Given the description of an element on the screen output the (x, y) to click on. 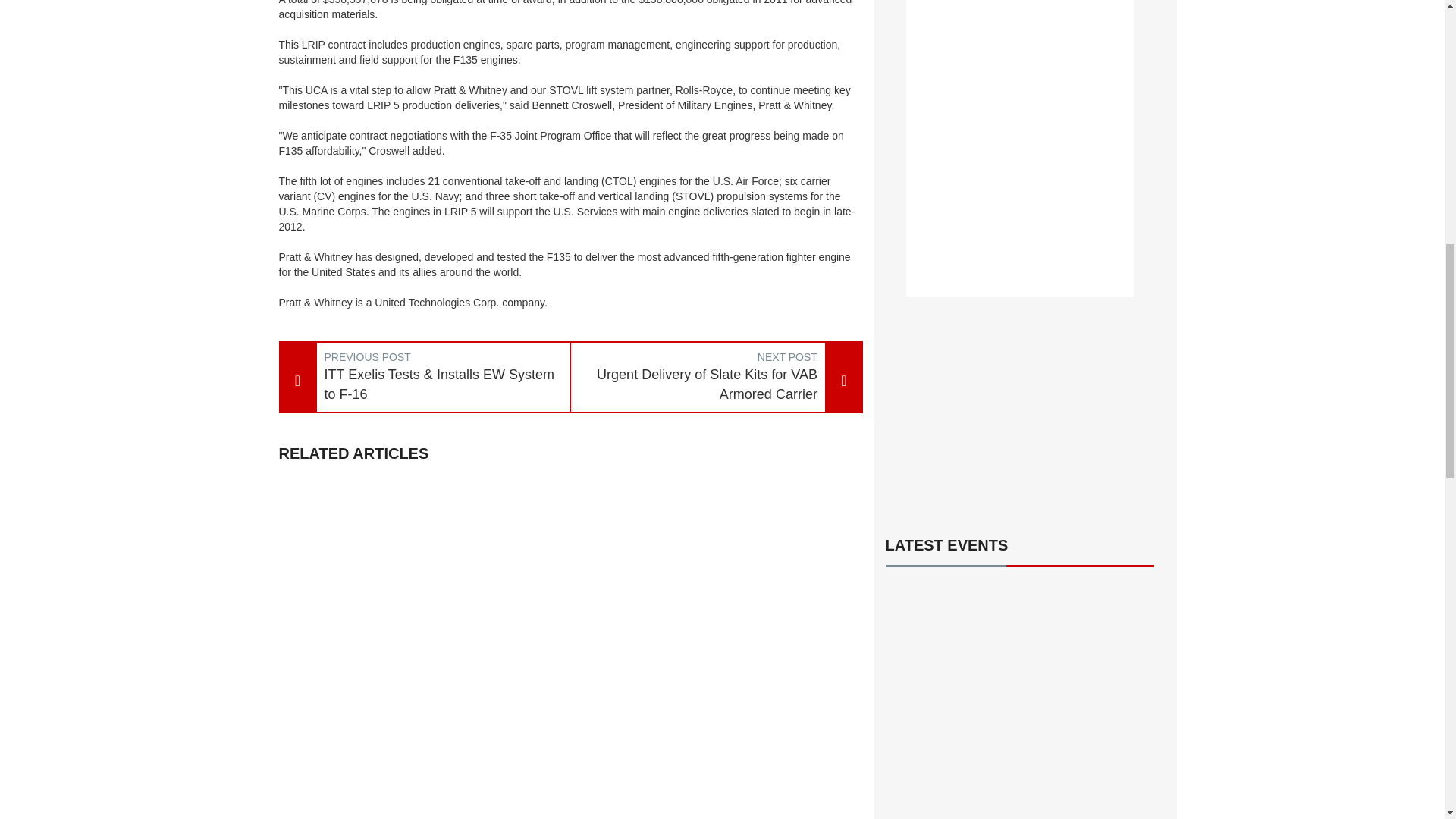
Urgent Delivery of Slate Kits for VAB Armored Carrier (697, 384)
